Given the description of an element on the screen output the (x, y) to click on. 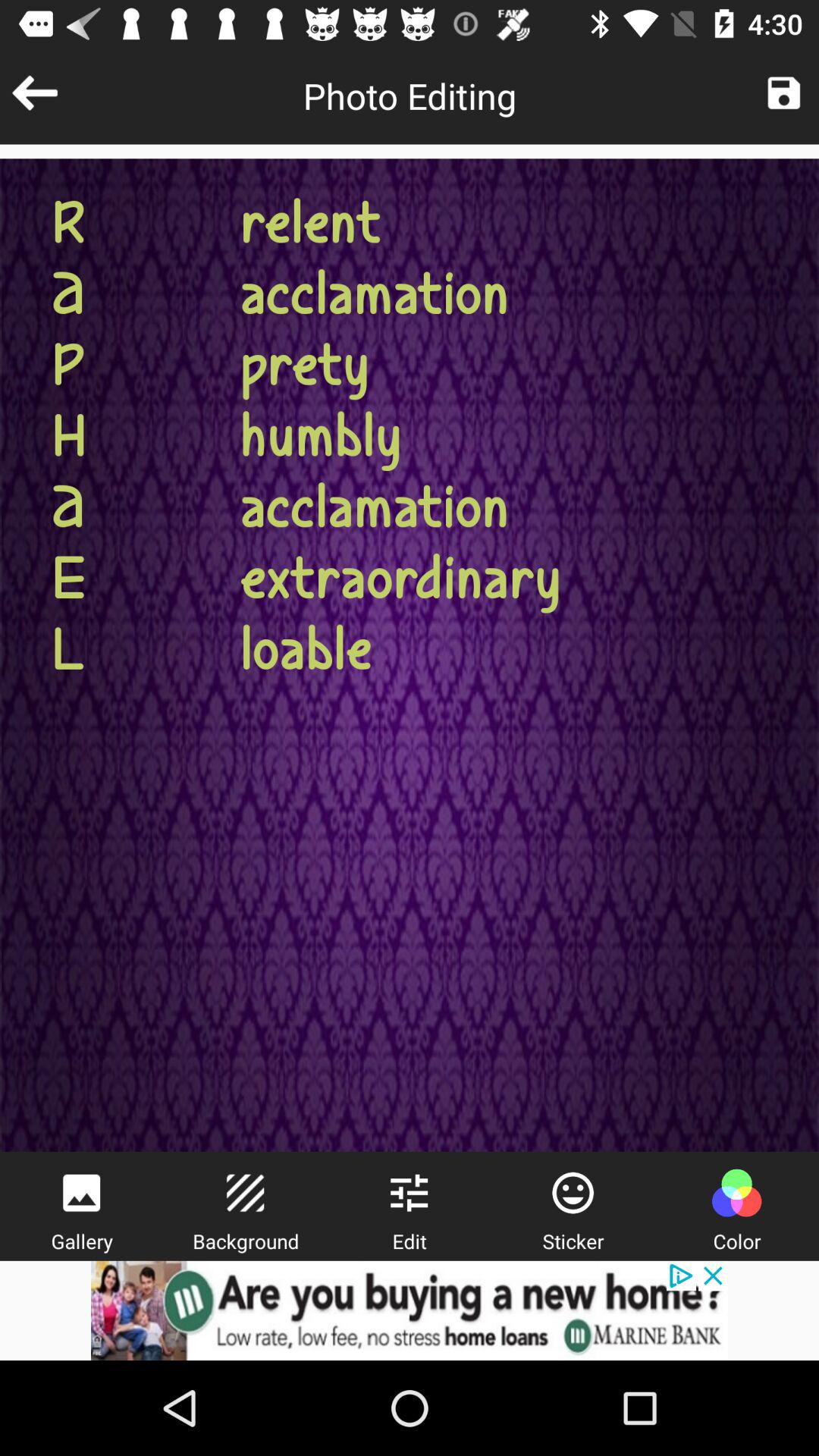
save this (784, 92)
